Given the description of an element on the screen output the (x, y) to click on. 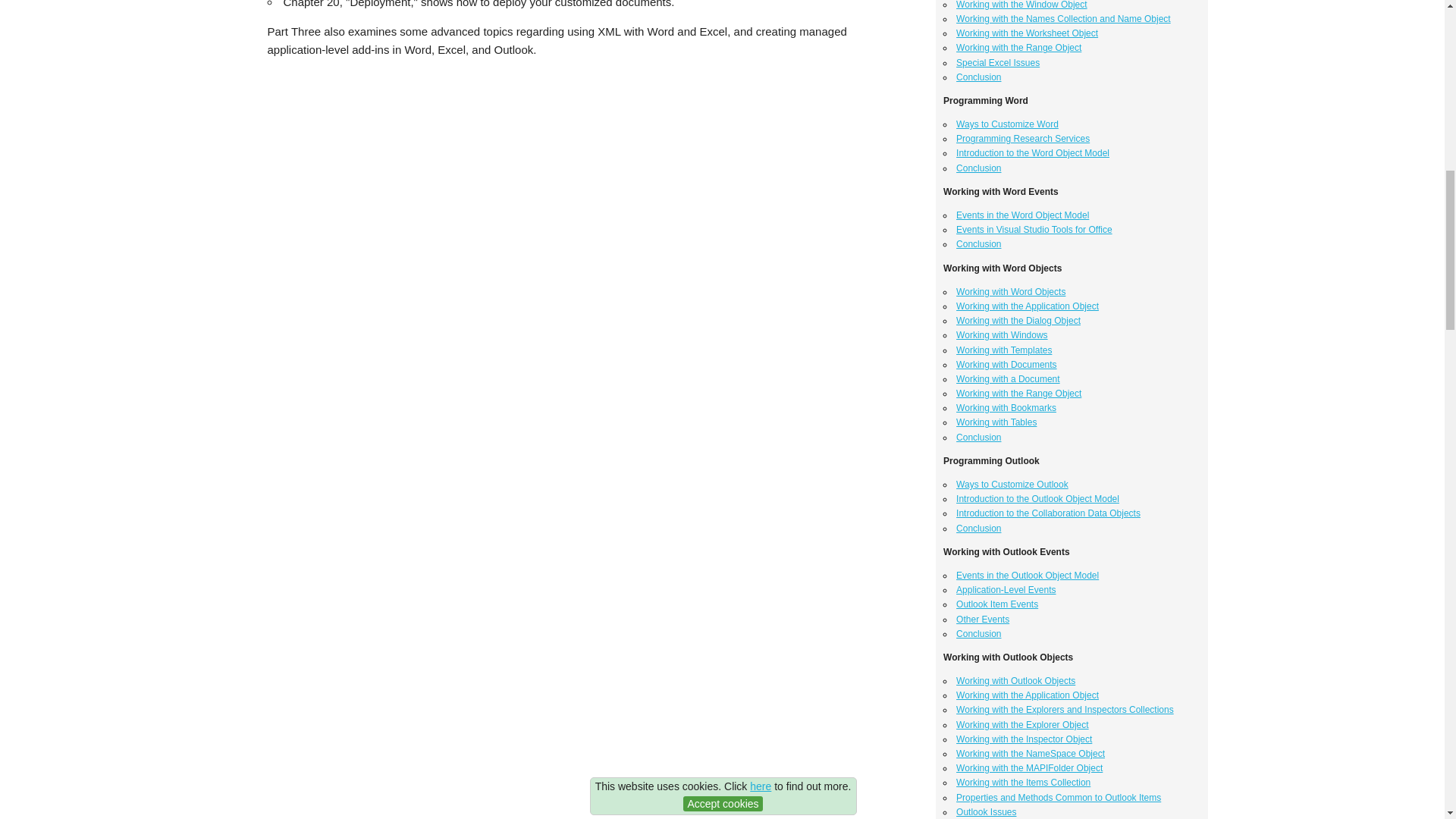
Working with the Window Object (1021, 4)
Special Excel Issues (997, 62)
Conclusion (978, 77)
Ways to Customize Word (1007, 123)
Working with the Names Collection and Name Object (1063, 18)
Working with the Range Object (1018, 47)
Programming Research Services (1022, 138)
Working with the Worksheet Object (1026, 32)
